Given the description of an element on the screen output the (x, y) to click on. 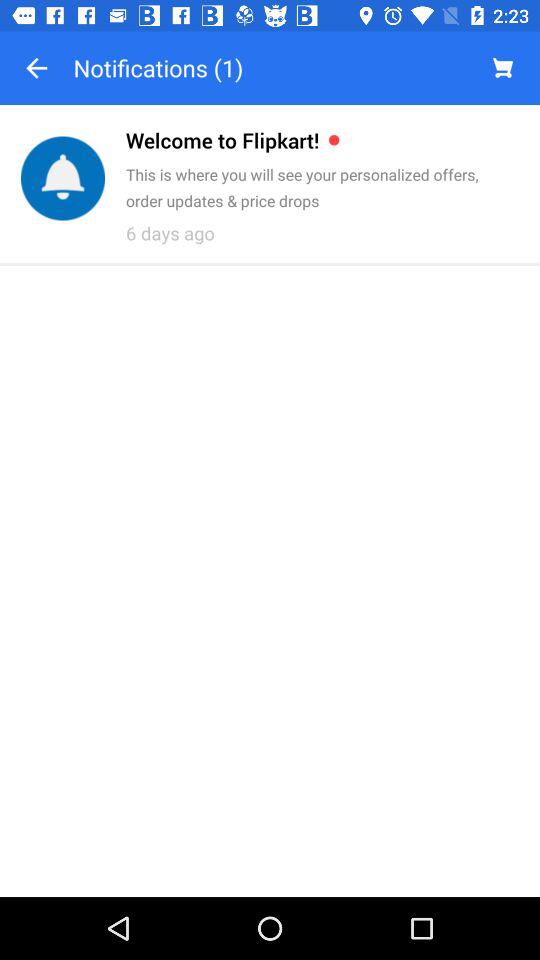
launch the icon to the left of the notifications (1) icon (36, 68)
